Given the description of an element on the screen output the (x, y) to click on. 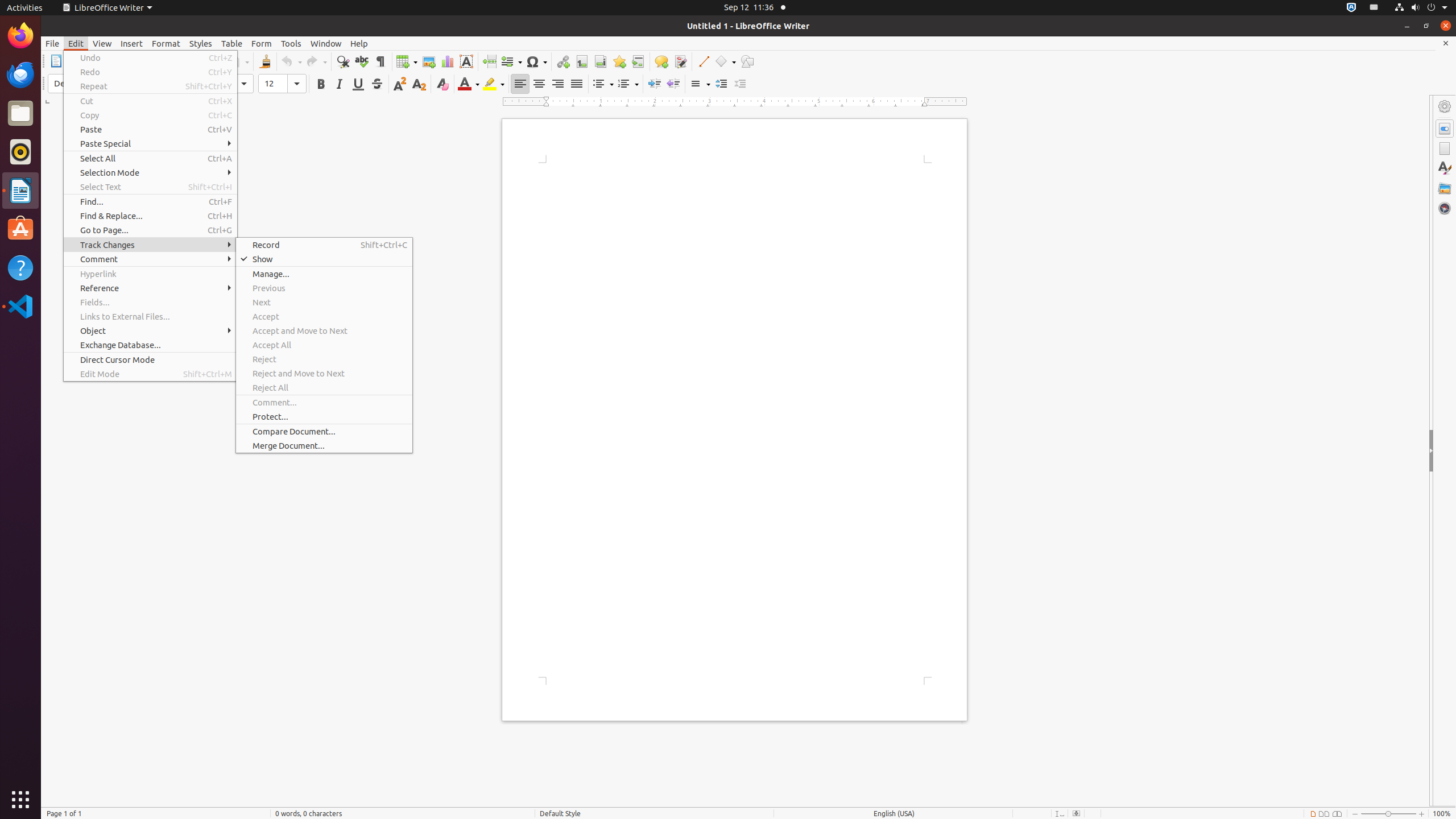
Page Element type: radio-button (1444, 148)
Styles Element type: menu (200, 43)
Exchange Database... Element type: menu-item (150, 344)
Comment... Element type: menu-item (324, 402)
Table Element type: menu (231, 43)
